Given the description of an element on the screen output the (x, y) to click on. 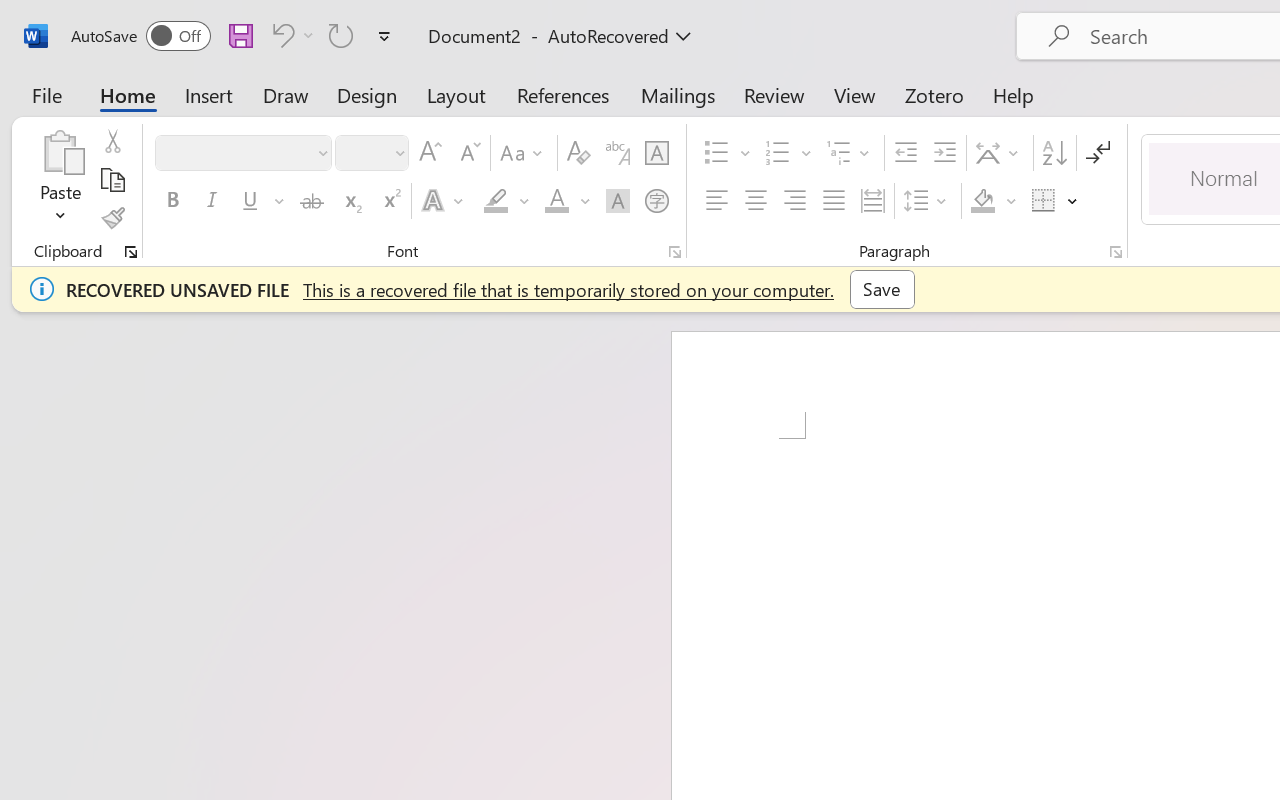
Office Clipboard... (131, 252)
Cut (112, 141)
